Given the description of an element on the screen output the (x, y) to click on. 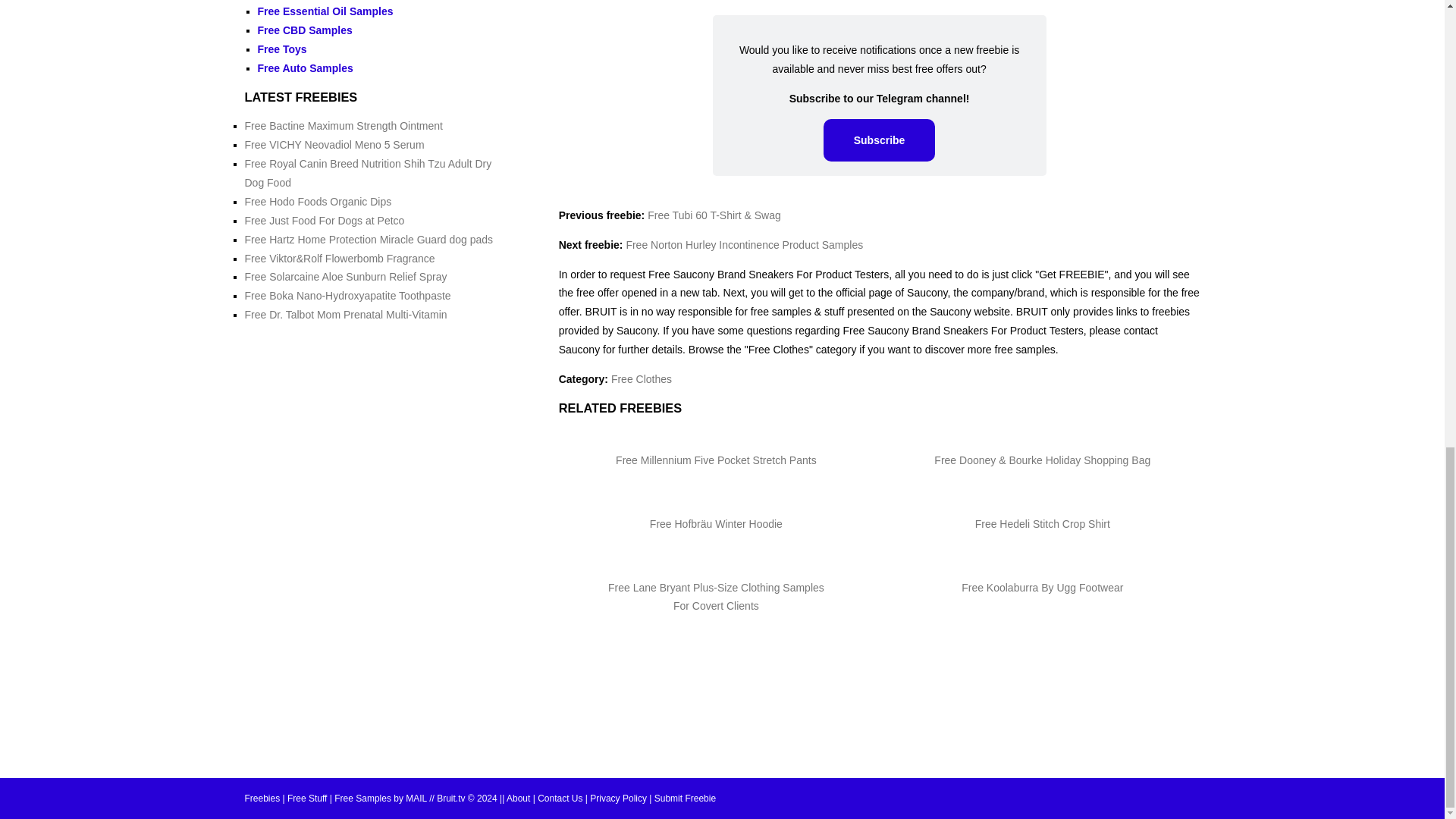
Free Millennium Five Pocket Stretch Pants (715, 460)
Free Norton Hurley Incontinence Product Samples (744, 244)
Subscribe (880, 139)
Free Hedeli Stitch Crop Shirt (1042, 523)
Free Koolaburra By Ugg Footwear (1041, 587)
Free Clothes (641, 378)
